Given the description of an element on the screen output the (x, y) to click on. 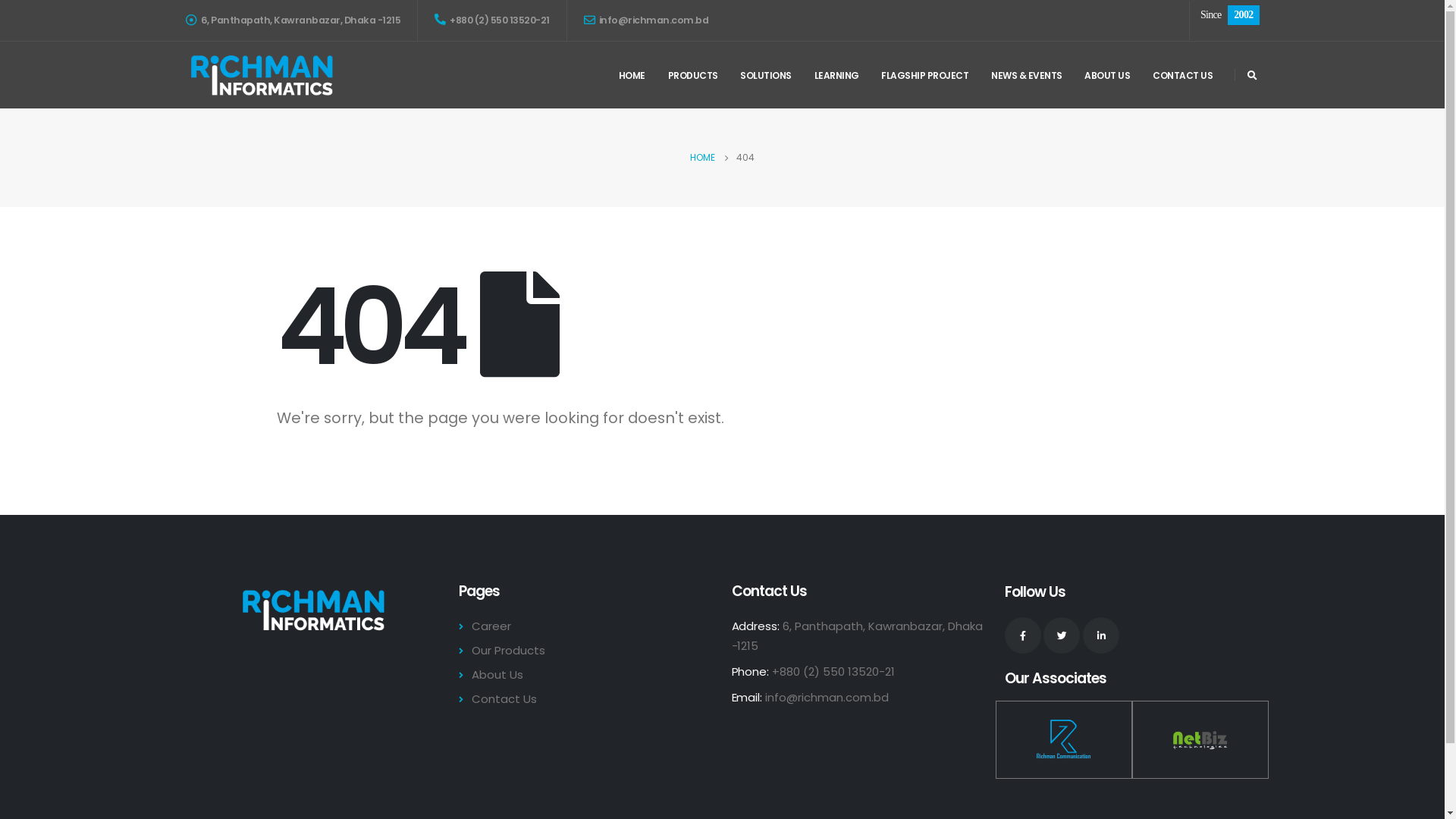
Career Element type: text (489, 625)
LinkedIn Element type: hover (1100, 635)
RI_LOGO_Blue+white Element type: hover (312, 609)
About Us Element type: text (495, 674)
Twitter Element type: hover (1061, 635)
FLAGSHIP PROJECT Element type: text (924, 74)
HOME Element type: text (702, 157)
LEARNING Element type: text (836, 74)
NEWS & EVENTS Element type: text (1026, 74)
Richman Informatics - We are Rich in Our Profession Element type: hover (260, 75)
info@richman.com.bd Element type: text (826, 697)
Facebook Element type: hover (1022, 635)
CONTACT US Element type: text (1182, 74)
Our Products Element type: text (506, 650)
+880 (2) 550 13520-21 Element type: text (491, 20)
PRODUCTS Element type: text (692, 74)
ABOUT US Element type: text (1107, 74)
SOLUTIONS Element type: text (765, 74)
HOME Element type: text (631, 74)
Contact Us Element type: text (502, 698)
info@richman.com.bd Element type: text (646, 20)
